Given the description of an element on the screen output the (x, y) to click on. 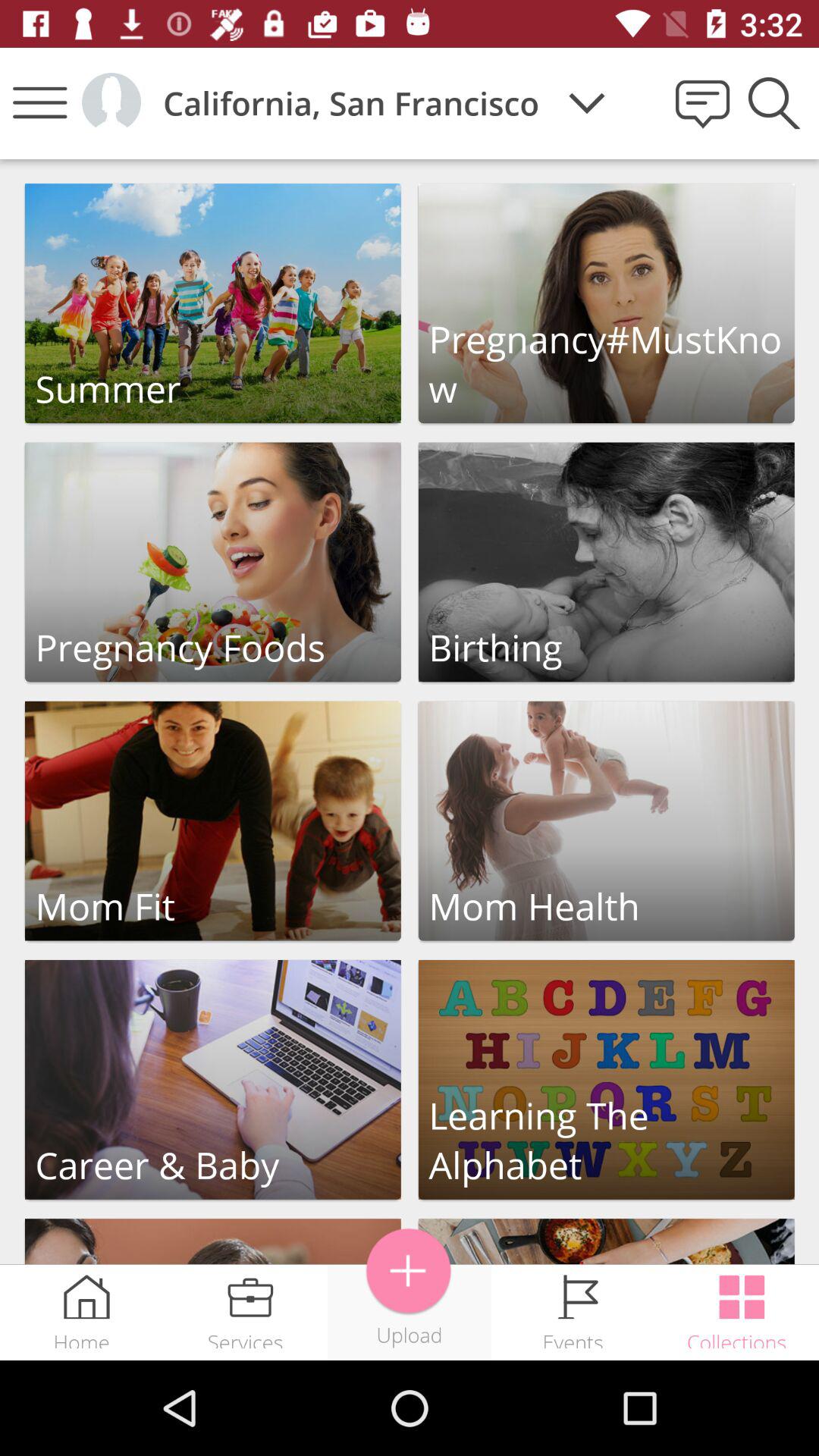
to birthing article (606, 561)
